Given the description of an element on the screen output the (x, y) to click on. 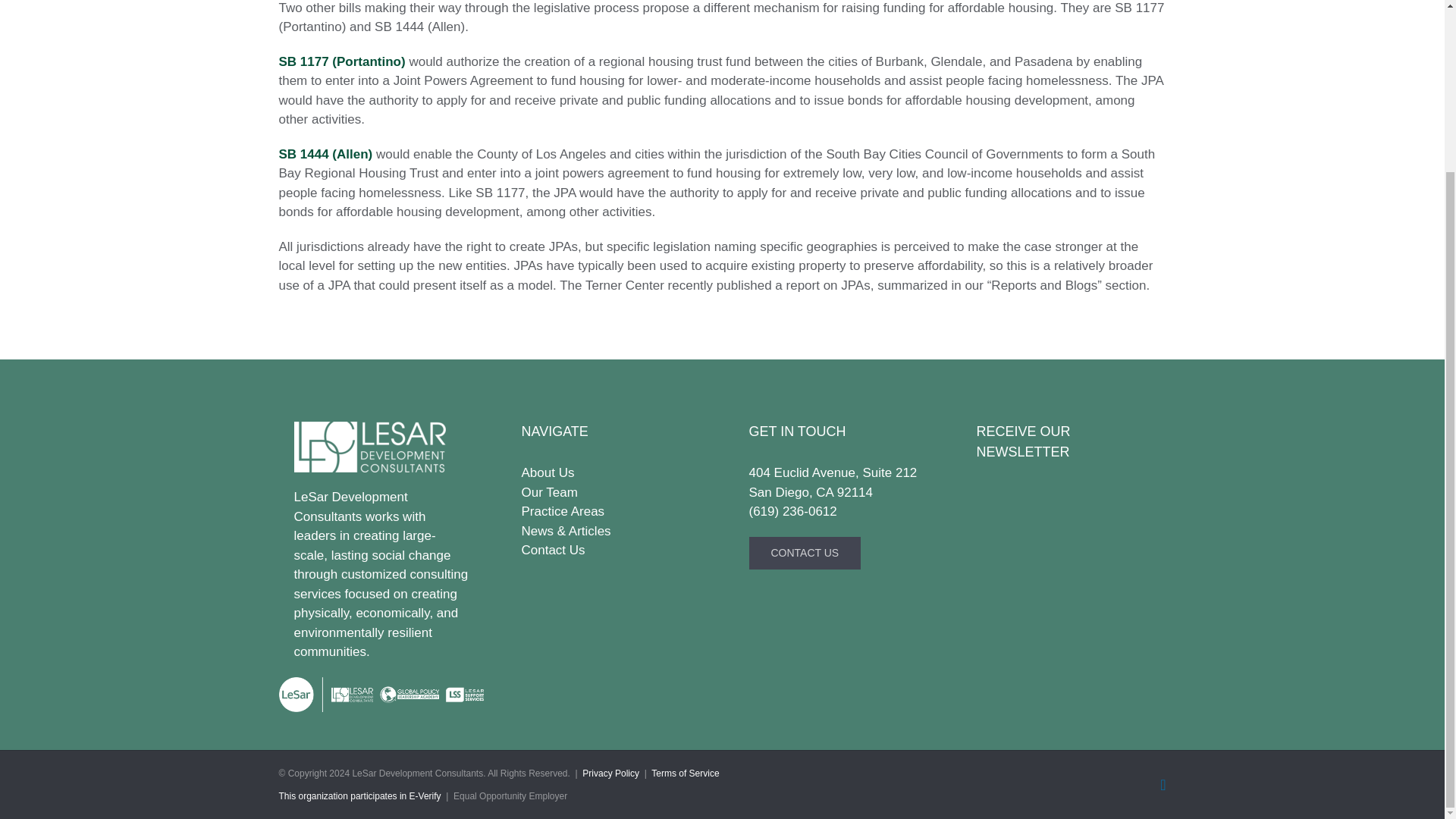
Privacy Policy (610, 773)
Terms of Service (684, 773)
Practice Areas (608, 511)
Contact Us (608, 550)
CONTACT US (805, 553)
Our Team (608, 492)
About Us (608, 473)
This organization participates in E-Verify (360, 796)
